Given the description of an element on the screen output the (x, y) to click on. 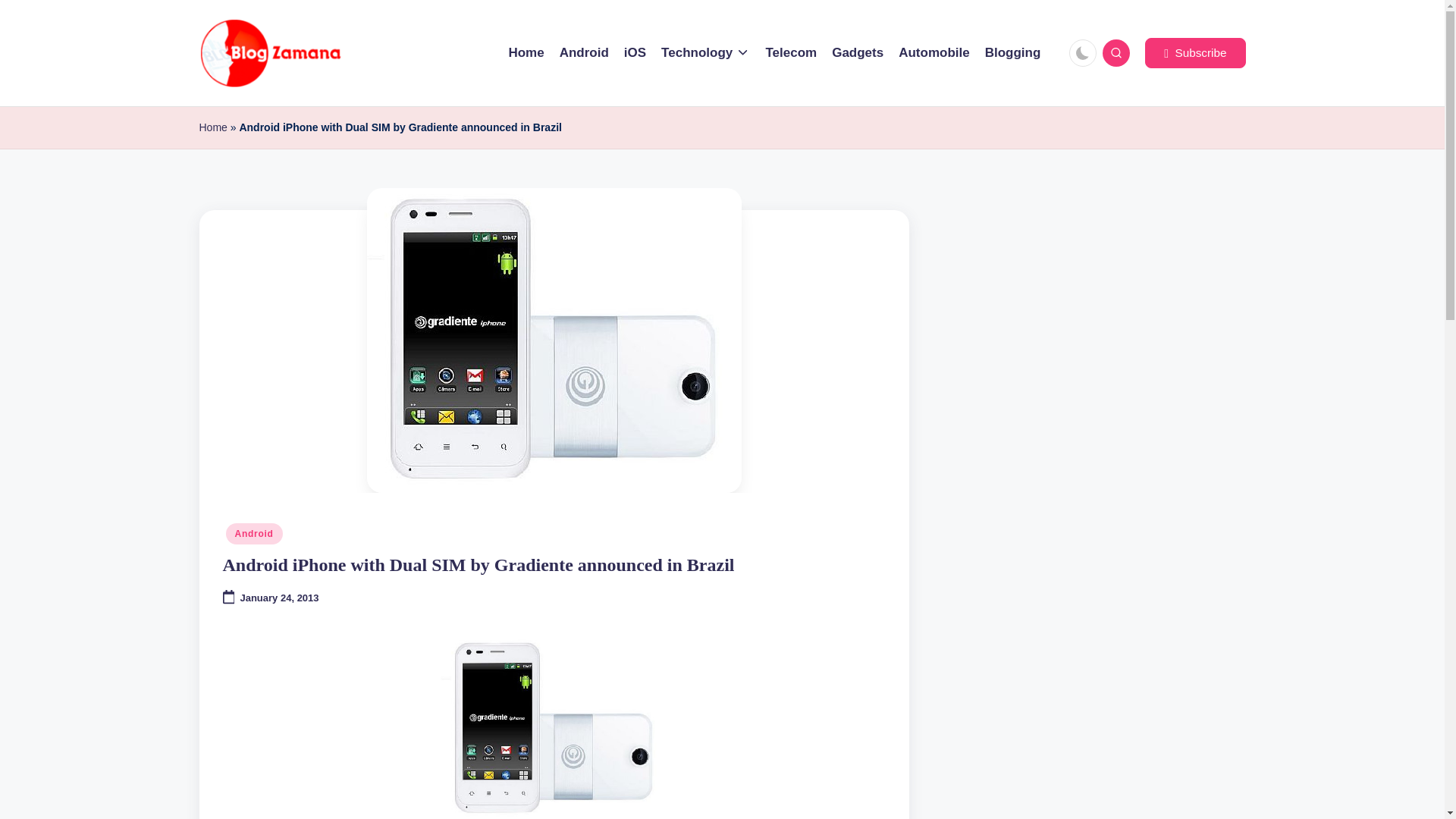
Gadgets (857, 52)
Blogging (1013, 52)
Technology (705, 52)
Android (253, 533)
Home (212, 127)
Subscribe (1194, 52)
Android (583, 52)
iOS (635, 52)
Home (525, 52)
Automobile (933, 52)
